Given the description of an element on the screen output the (x, y) to click on. 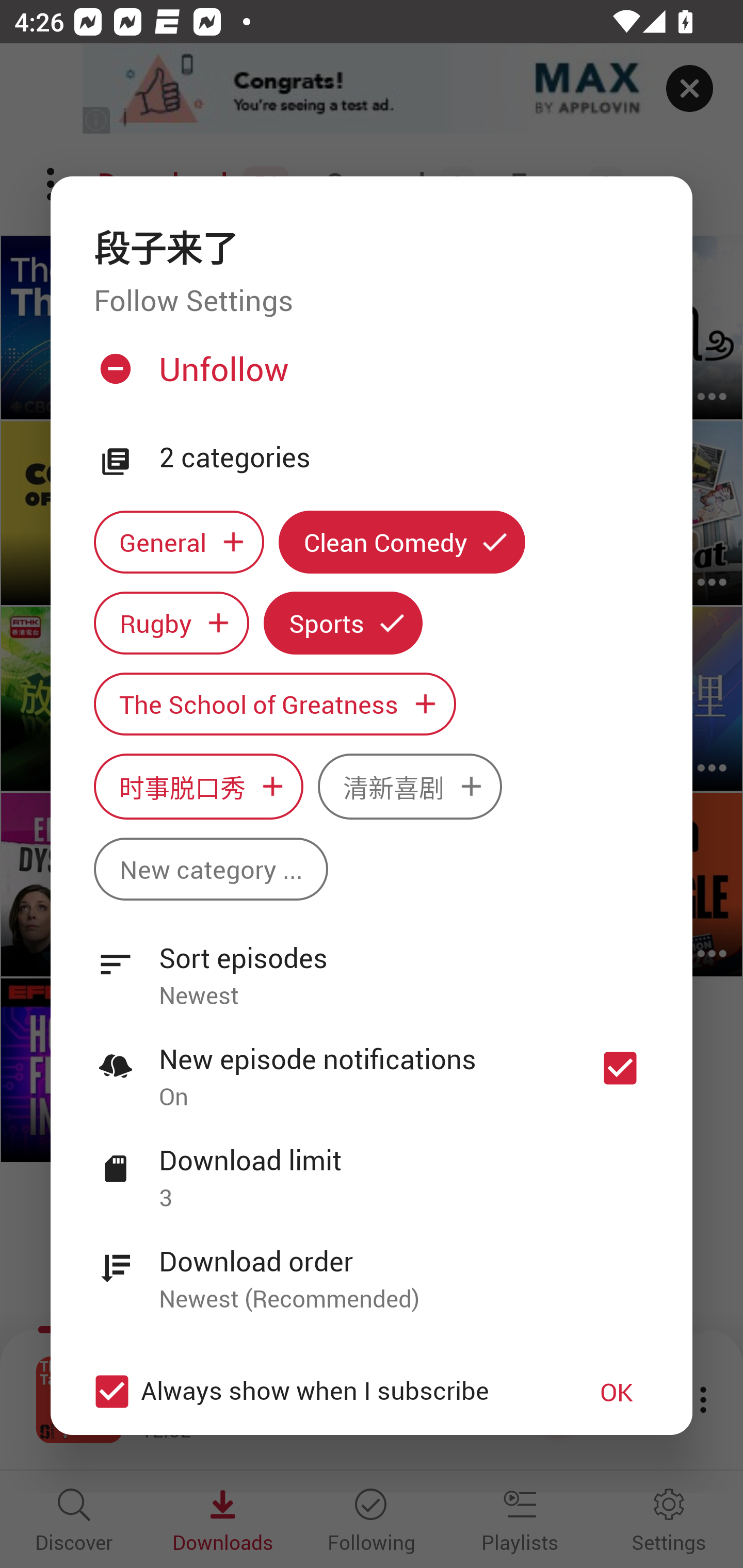
Unfollow (369, 376)
2 categories (404, 457)
General (178, 542)
Clean Comedy (401, 542)
Rugby (170, 622)
Sports (342, 622)
The School of Greatness (274, 703)
时事脱口秀 (198, 787)
清新喜剧 (410, 787)
New category ... (210, 868)
Sort episodes Newest (371, 965)
New episode notifications (620, 1068)
Download limit 3 (371, 1167)
Download order Newest (Recommended) (371, 1268)
OK (616, 1391)
Always show when I subscribe (320, 1391)
